Given the description of an element on the screen output the (x, y) to click on. 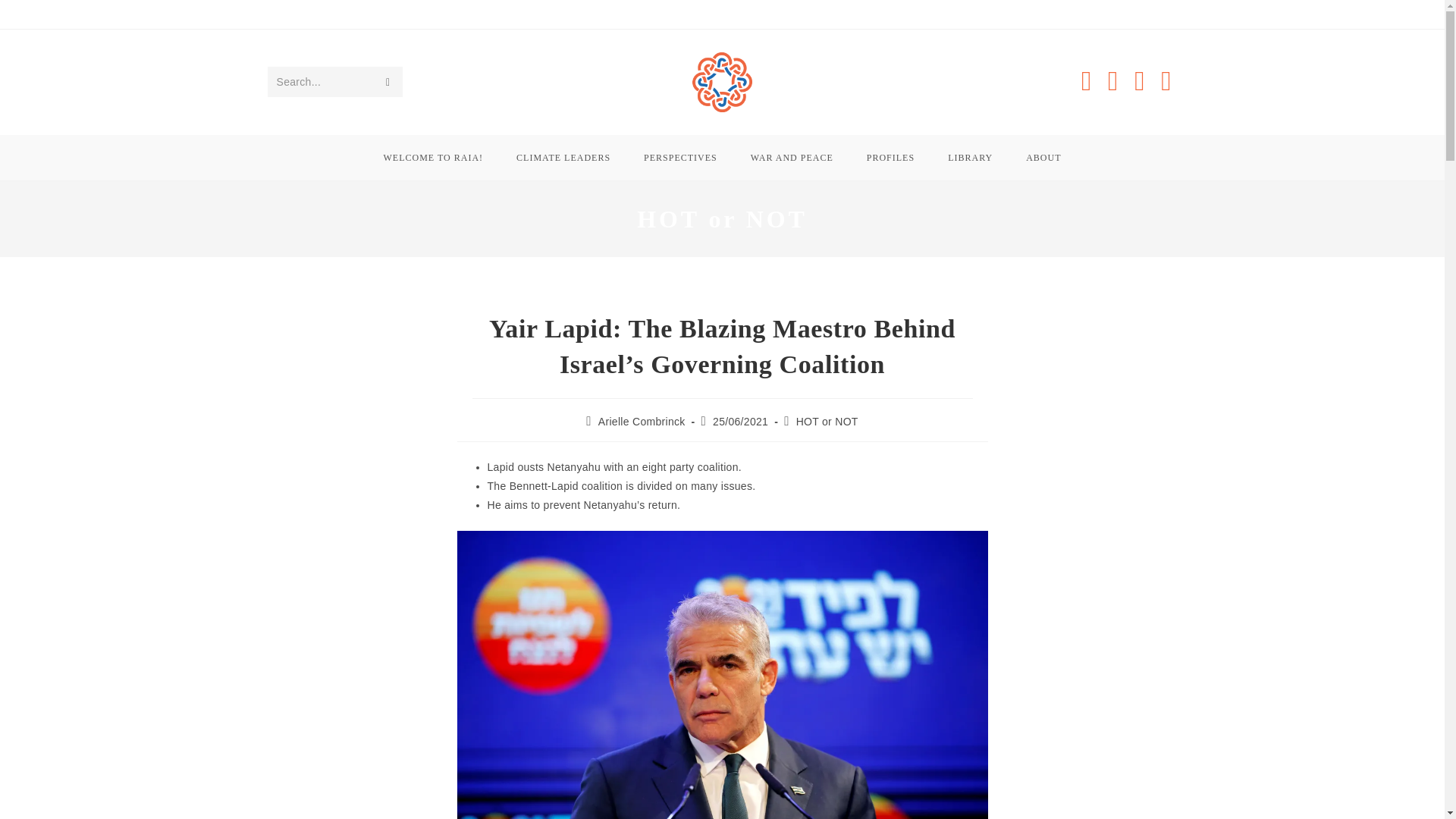
ABOUT (1043, 157)
Posts by Arielle Combrinck (641, 421)
WAR AND PEACE (791, 157)
LIBRARY (970, 157)
WELCOME TO RAIA! (433, 157)
PERSPECTIVES (680, 157)
CLIMATE LEADERS (563, 157)
Arielle Combrinck (641, 421)
HOT or NOT (827, 421)
Submit search (386, 81)
